Given the description of an element on the screen output the (x, y) to click on. 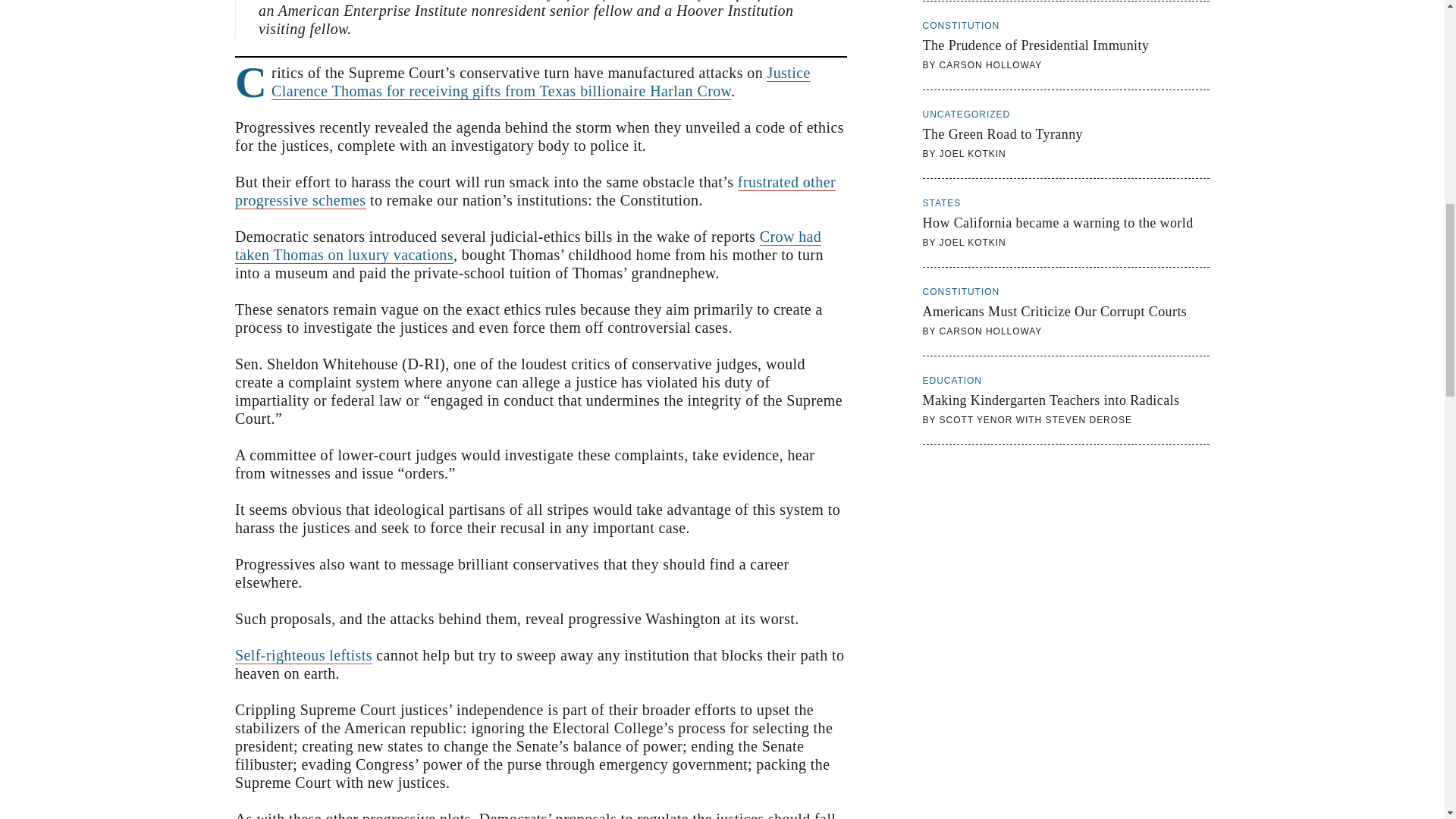
Crow had taken Thomas on luxury vacations (1066, 133)
frustrated other progressive schemes (527, 245)
Self-righteous leftists (534, 191)
